Given the description of an element on the screen output the (x, y) to click on. 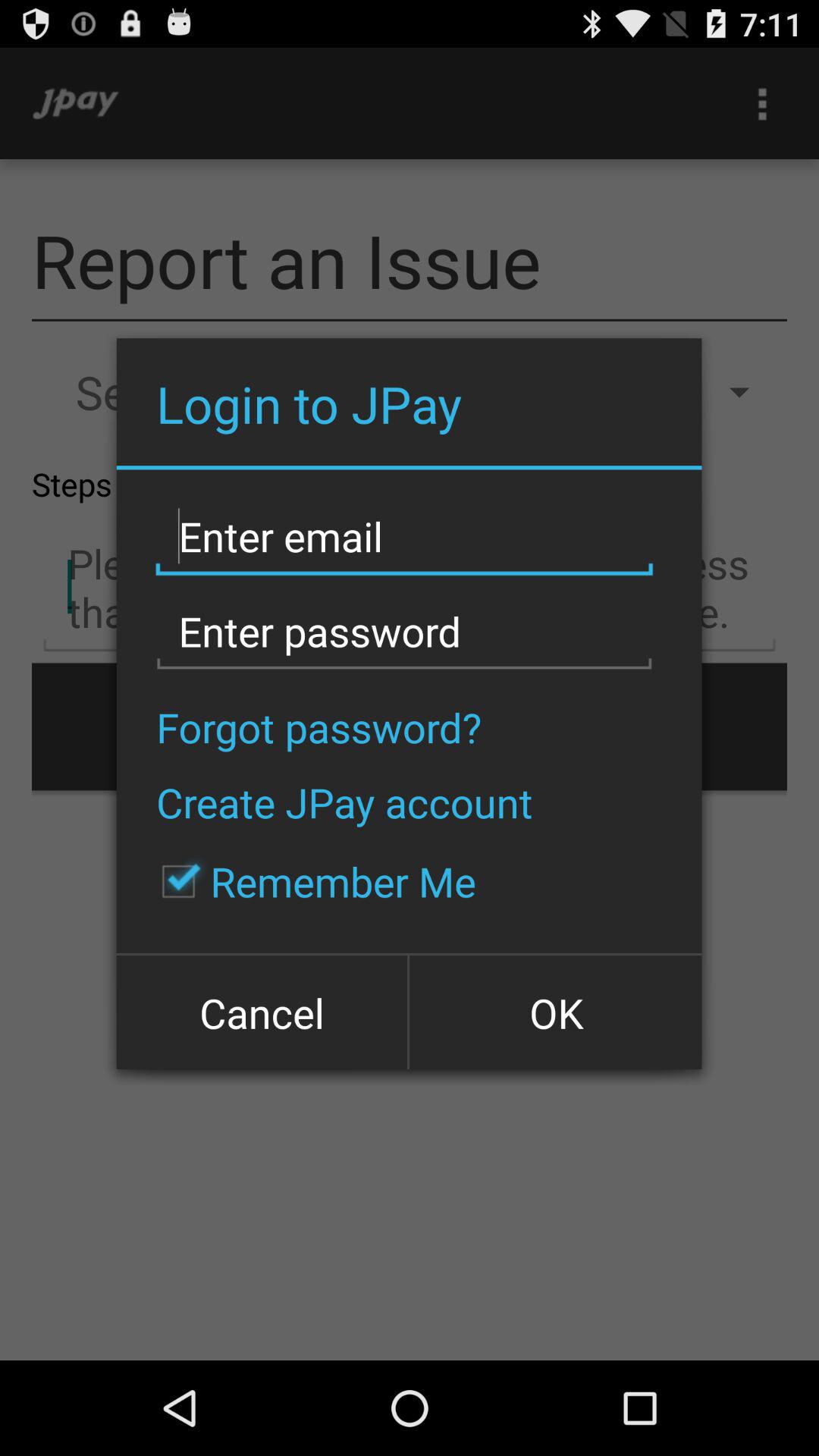
turn off icon below the remember me item (554, 1011)
